Given the description of an element on the screen output the (x, y) to click on. 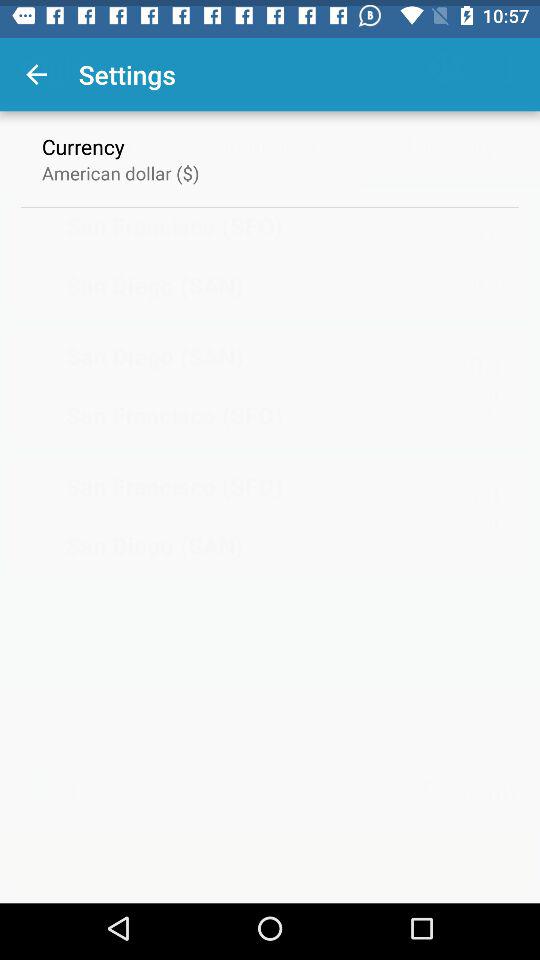
press the item above currency item (36, 68)
